Given the description of an element on the screen output the (x, y) to click on. 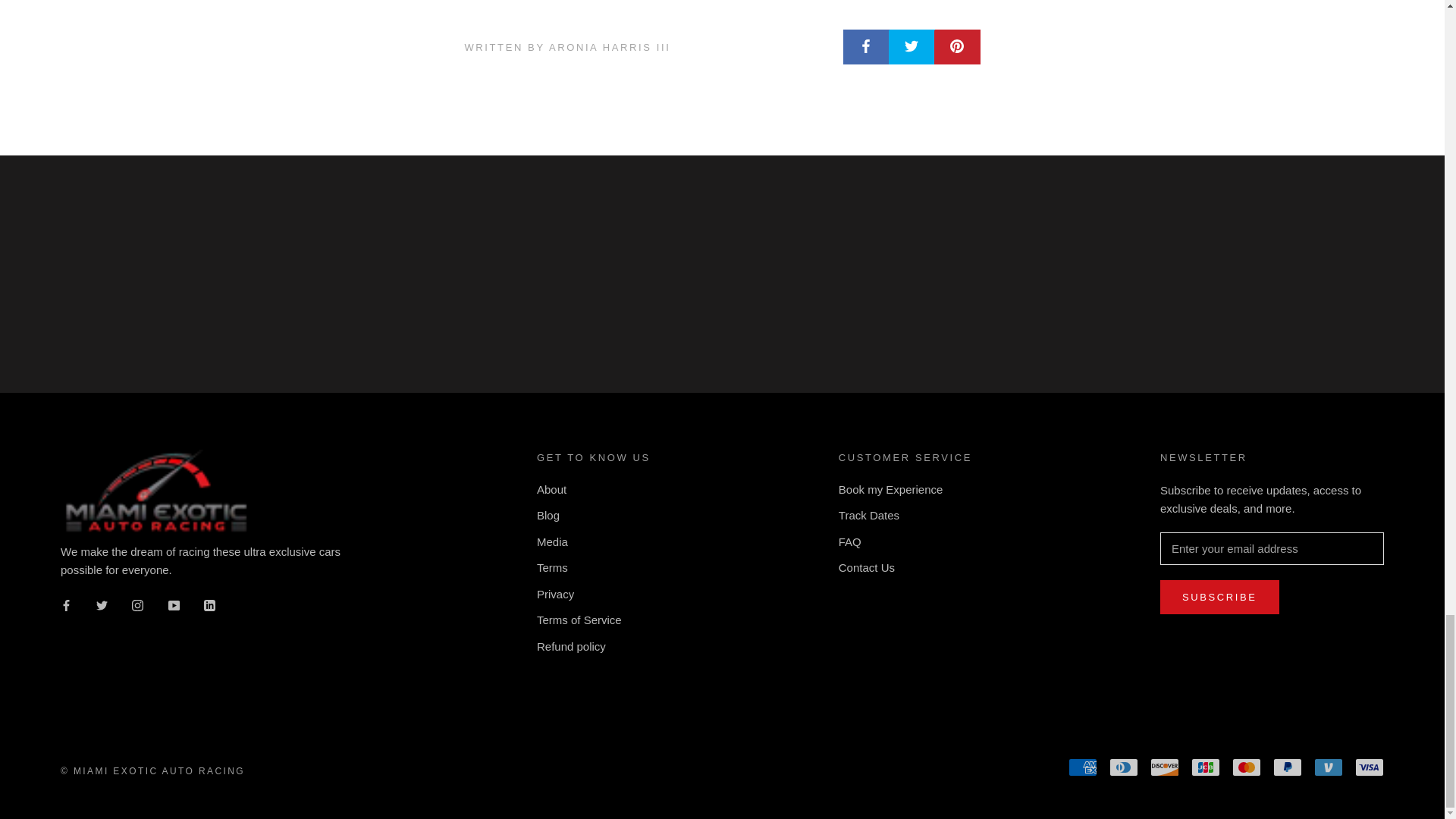
Venmo (1328, 767)
Discover (1164, 767)
Diners Club (1123, 767)
Mastercard (1245, 767)
PayPal (1286, 767)
JCB (1205, 767)
Visa (1369, 767)
American Express (1082, 767)
